Given the description of an element on the screen output the (x, y) to click on. 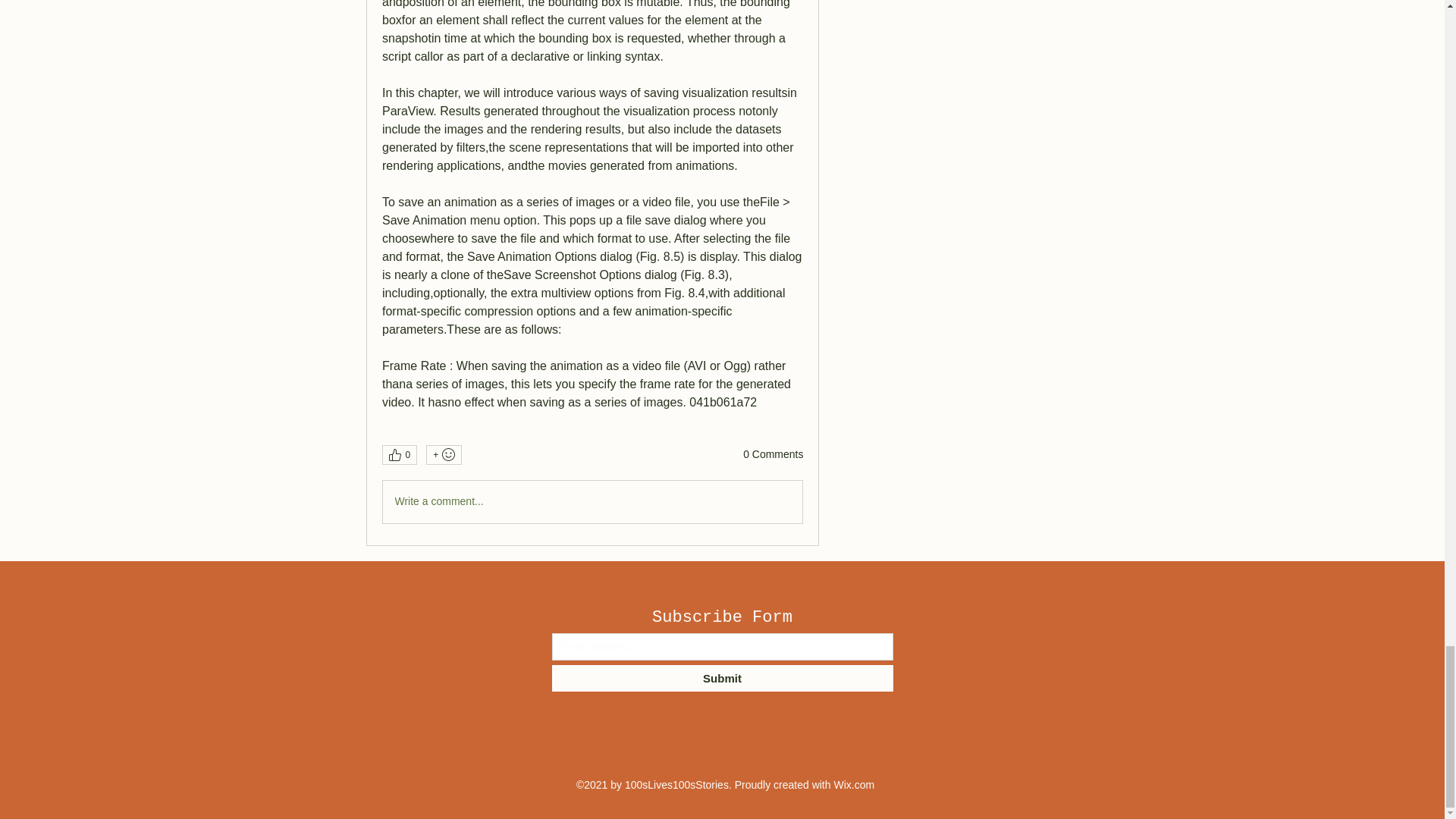
Submit (722, 678)
0 Comments (772, 454)
Write a comment... (591, 500)
